Given the description of an element on the screen output the (x, y) to click on. 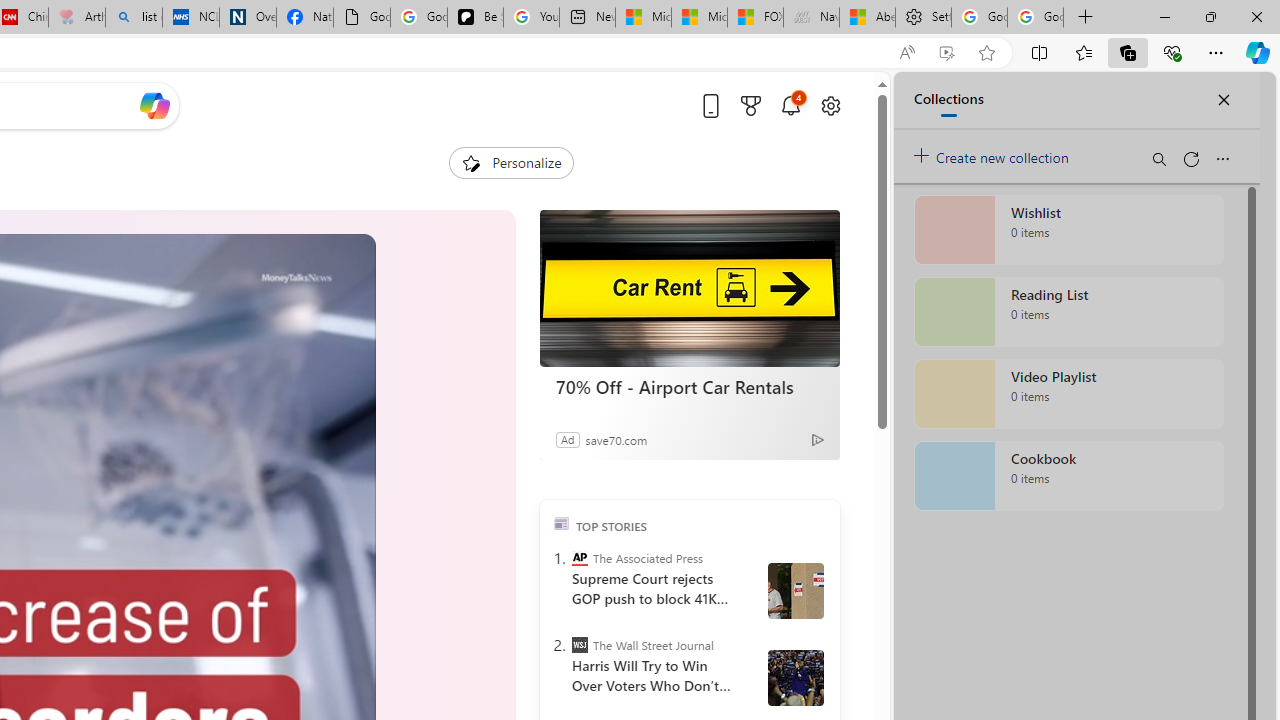
FOX News - MSN (755, 17)
The Wall Street Journal (579, 645)
